Given the description of an element on the screen output the (x, y) to click on. 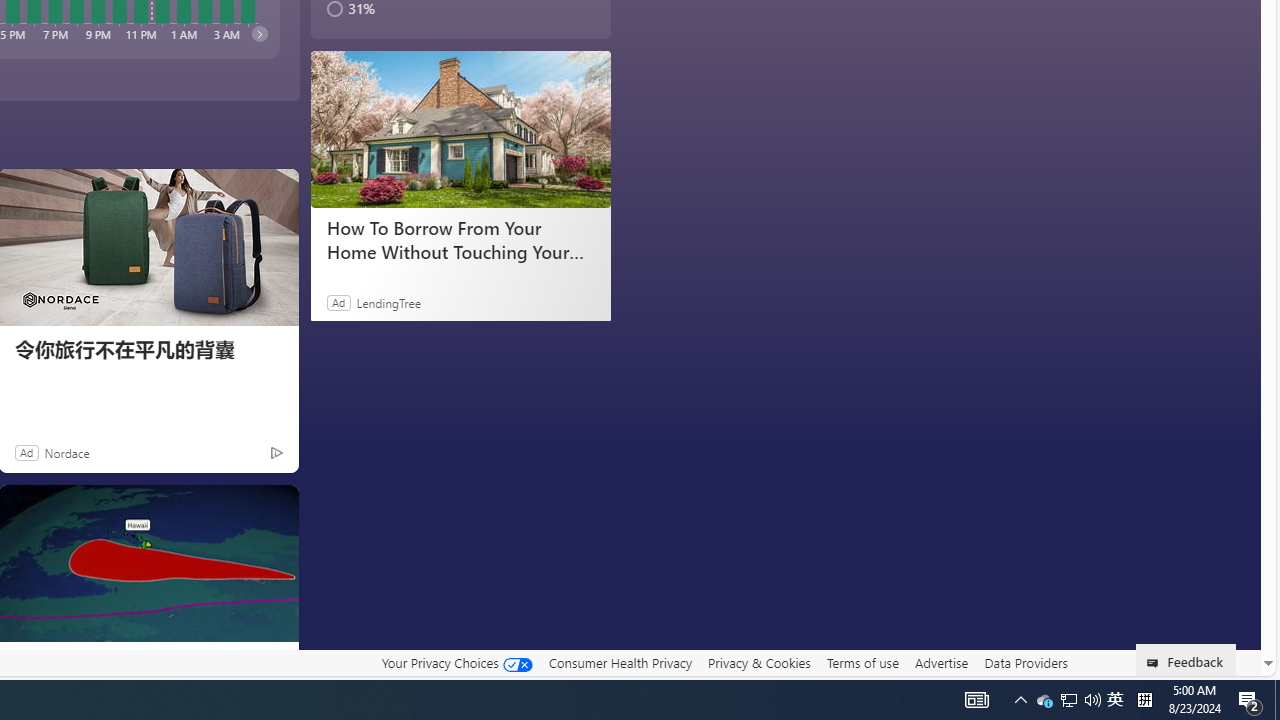
Class: feedback_link_icon-DS-EntryPoint1-1 (1156, 663)
Data Providers (1025, 663)
